Given the description of an element on the screen output the (x, y) to click on. 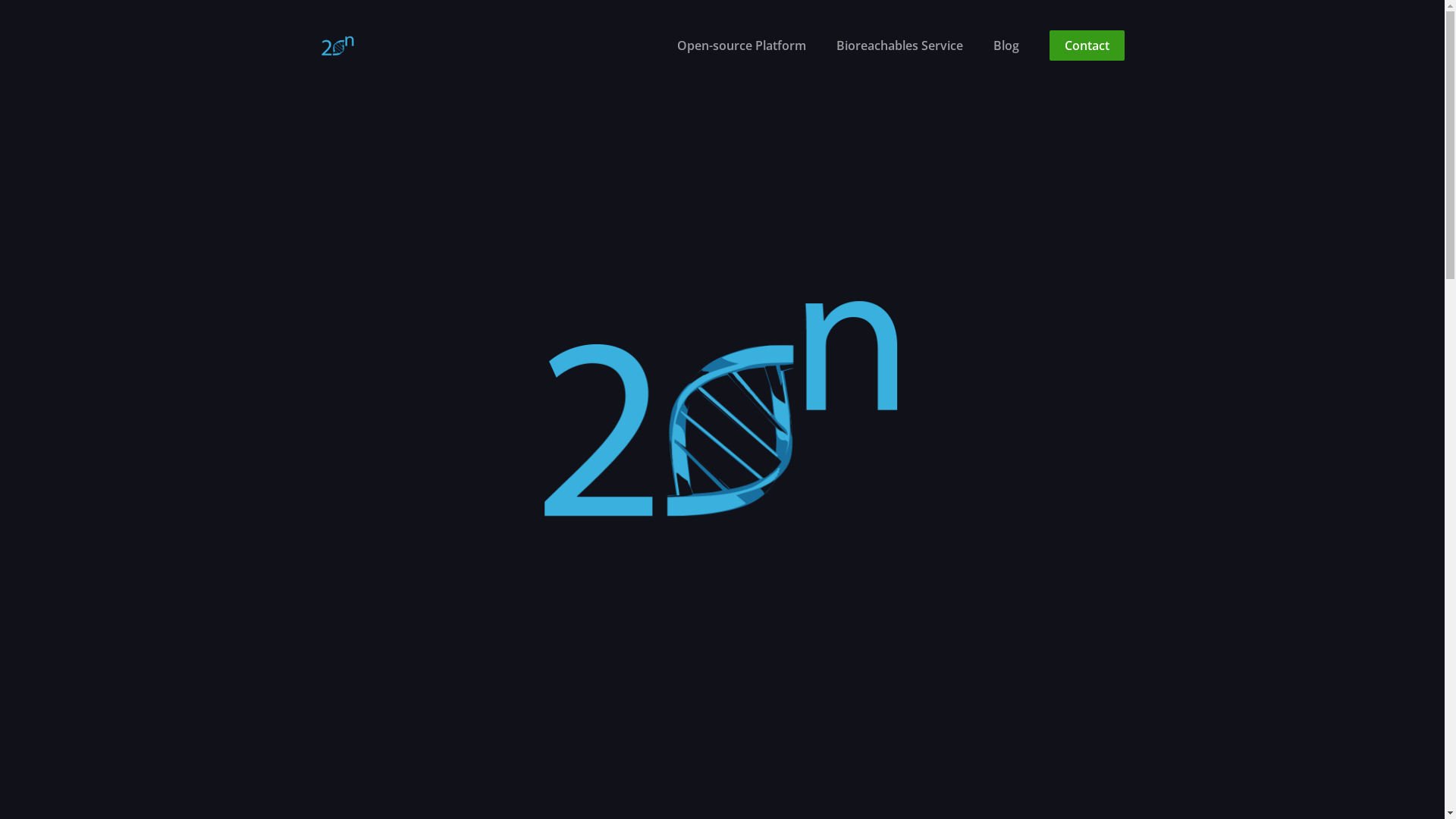
Contact Element type: text (1086, 45)
Bioreachables Service Element type: text (898, 45)
Blog Element type: text (1006, 45)
Open-source Platform Element type: text (740, 45)
